Given the description of an element on the screen output the (x, y) to click on. 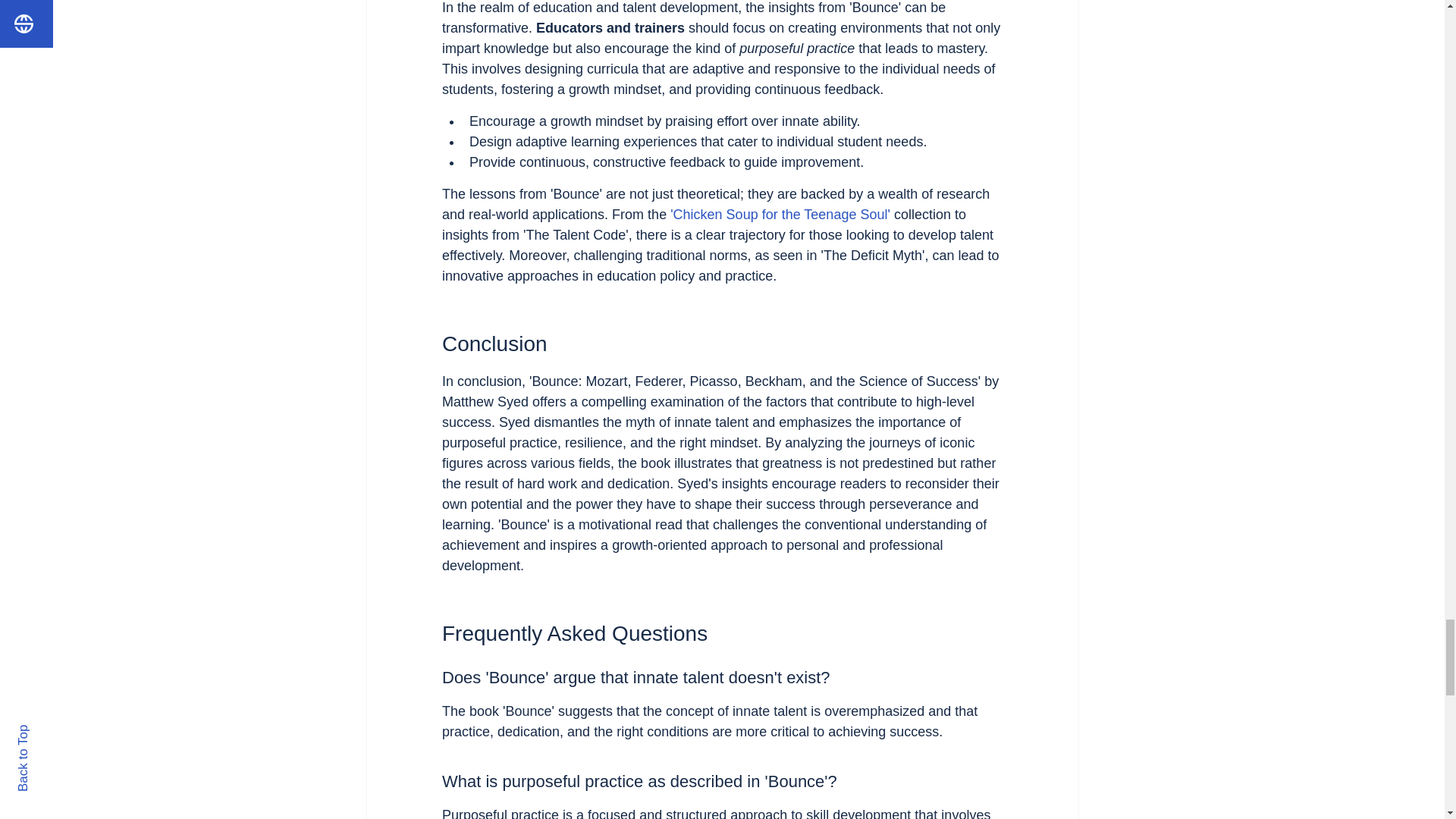
'Chicken Soup for the Teenage Soul' (779, 214)
